Given the description of an element on the screen output the (x, y) to click on. 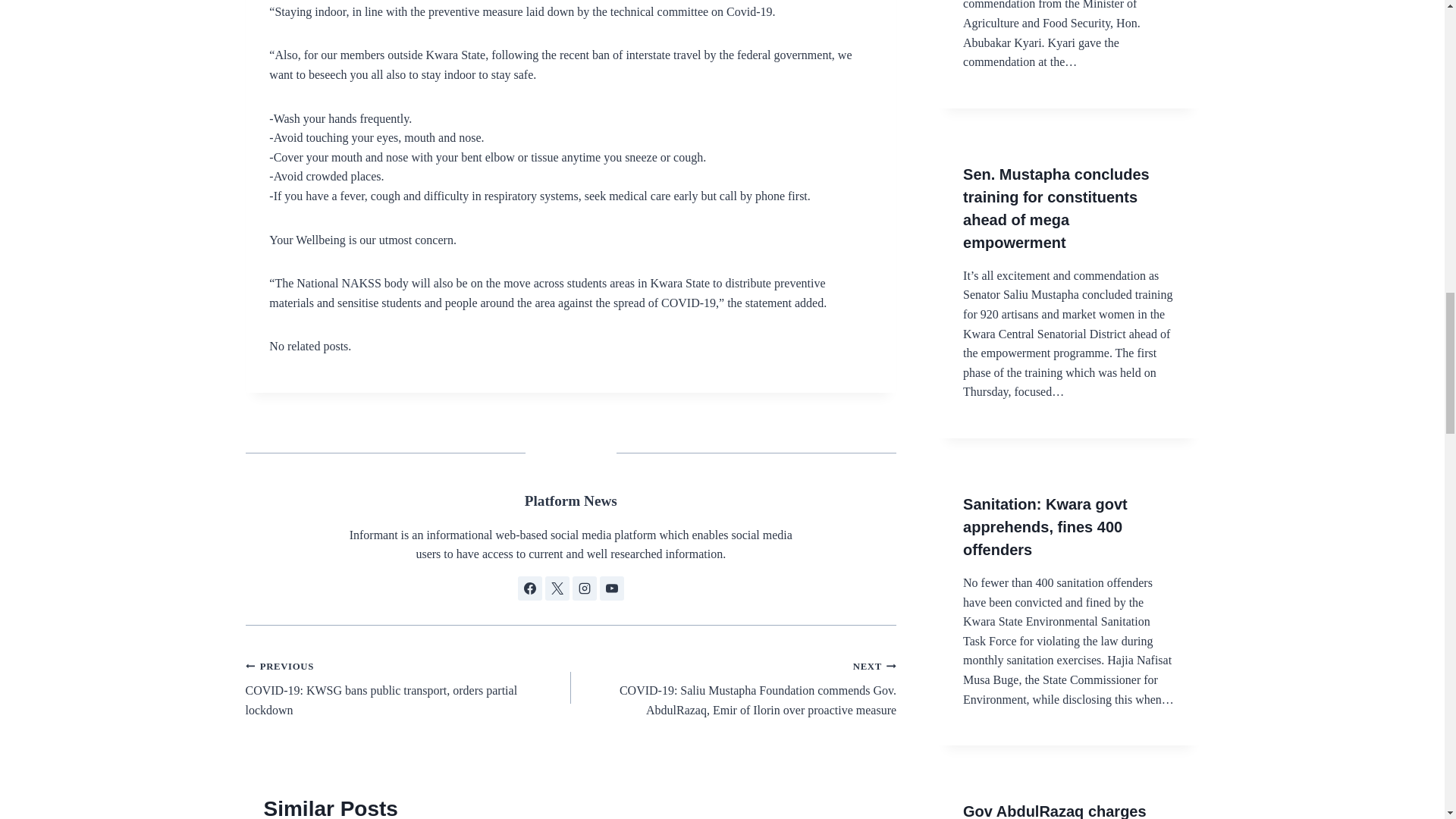
Follow Platform News on Instagram (584, 588)
Platform News (570, 500)
Posts by Platform News (570, 500)
Follow Platform News on Youtube (611, 588)
Follow Platform News on X formerly Twitter (556, 588)
Follow Platform News on Facebook (529, 588)
